Given the description of an element on the screen output the (x, y) to click on. 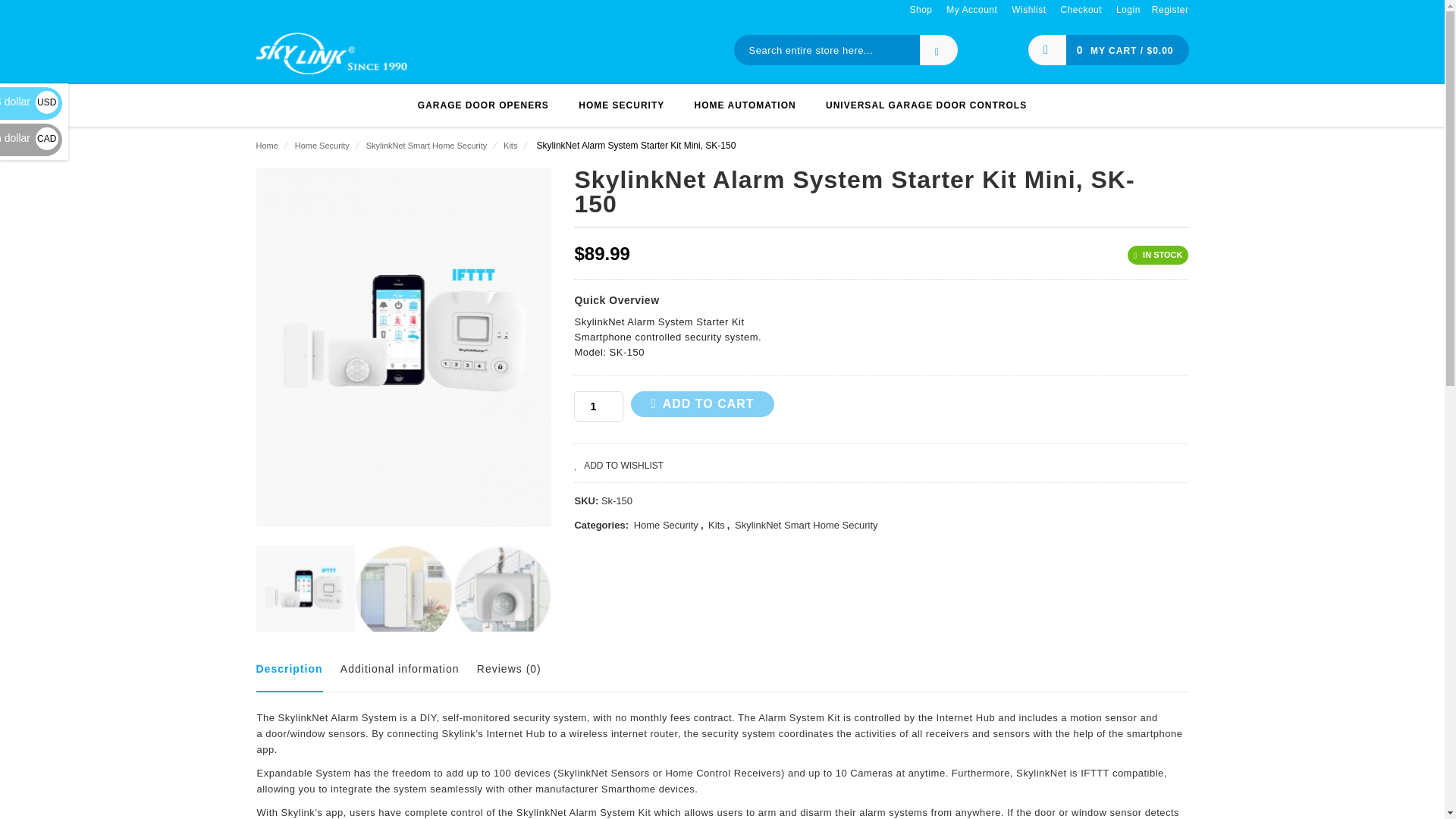
Checkout (1080, 9)
Wishlist (1028, 9)
images (501, 594)
Qty (598, 406)
Shop (919, 9)
Login (1128, 9)
Skylink Store (331, 51)
UNIVERSAL GARAGE DOOR CONTROLS (926, 105)
images (403, 594)
GARAGE DOOR OPENERS (483, 105)
HOME SECURITY (621, 105)
Register (1170, 9)
My Account (971, 9)
sk-150 (305, 594)
HOME AUTOMATION (745, 105)
